Given the description of an element on the screen output the (x, y) to click on. 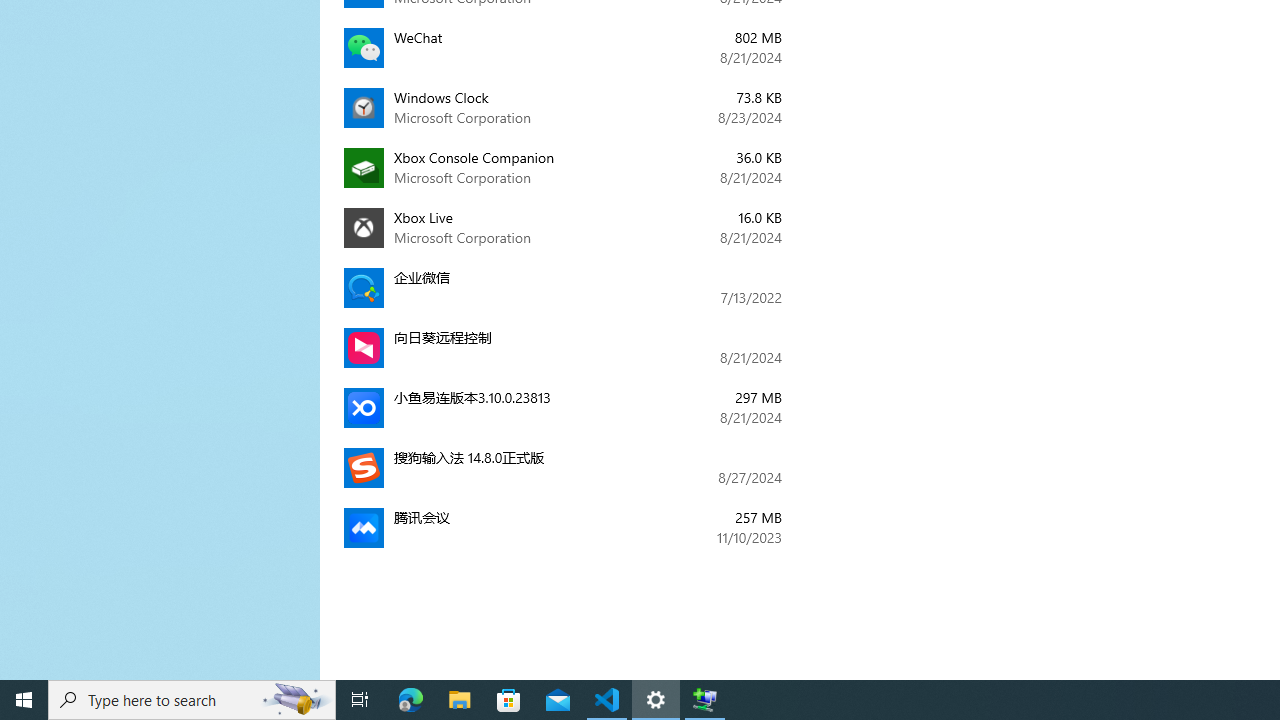
Extensible Wizards Host Process - 1 running window (704, 699)
Search highlights icon opens search home window (295, 699)
Settings - 1 running window (656, 699)
File Explorer (460, 699)
Task View (359, 699)
Microsoft Store (509, 699)
Type here to search (191, 699)
